Given the description of an element on the screen output the (x, y) to click on. 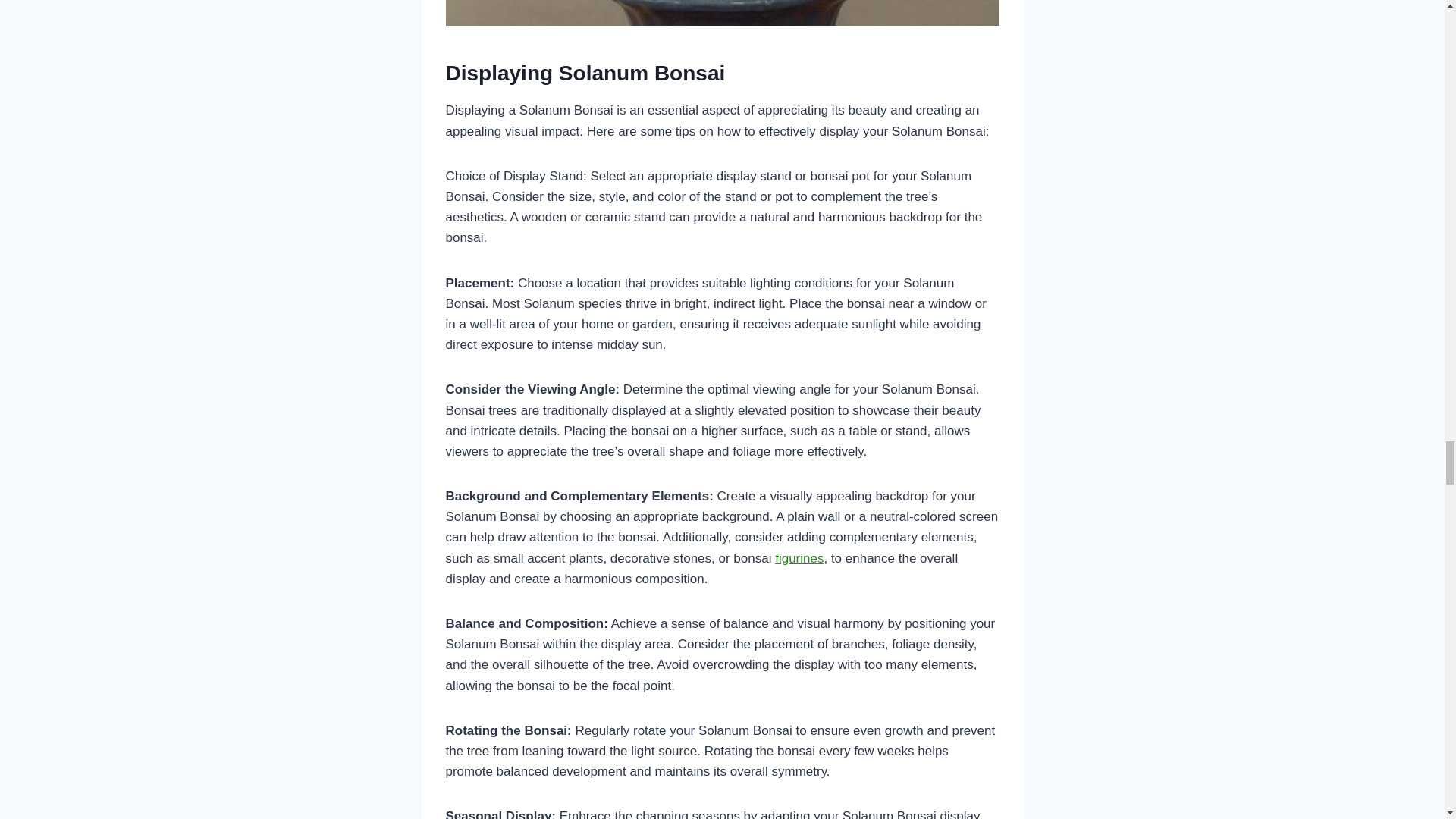
figurines (799, 558)
